Given the description of an element on the screen output the (x, y) to click on. 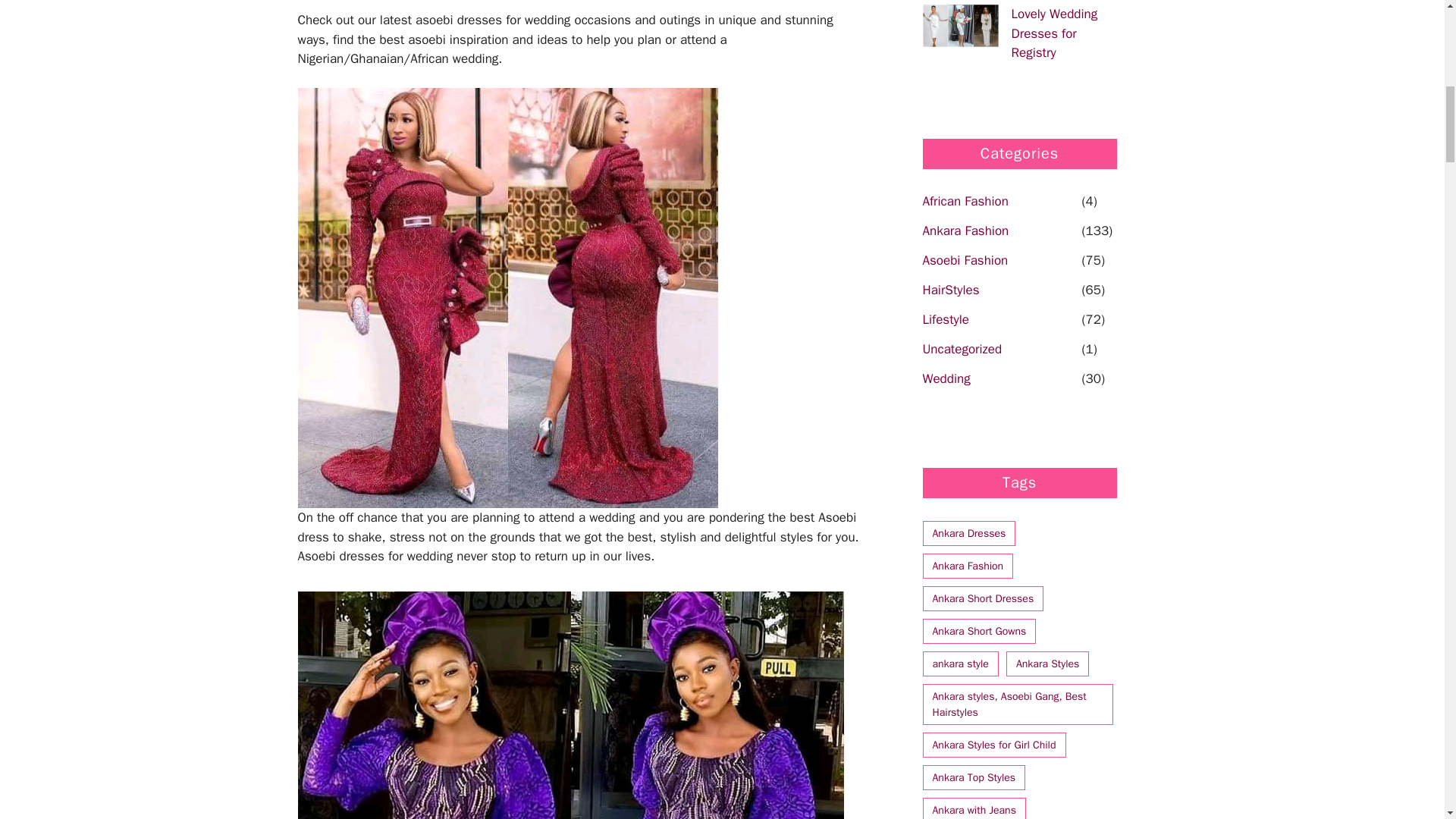
Ankara Fashion (967, 565)
Scroll back to top (1406, 720)
HairStyles (999, 291)
Wedding (999, 381)
Ankara Short Gowns (978, 631)
Ankara Dresses (967, 533)
Asoebi Fashion (999, 262)
Uncategorized (999, 351)
Lifestyle (999, 321)
Ankara Fashion (999, 232)
African Fashion (999, 203)
Lovely Wedding Dresses for Registry (1054, 32)
Ankara Short Dresses (982, 598)
